Given the description of an element on the screen output the (x, y) to click on. 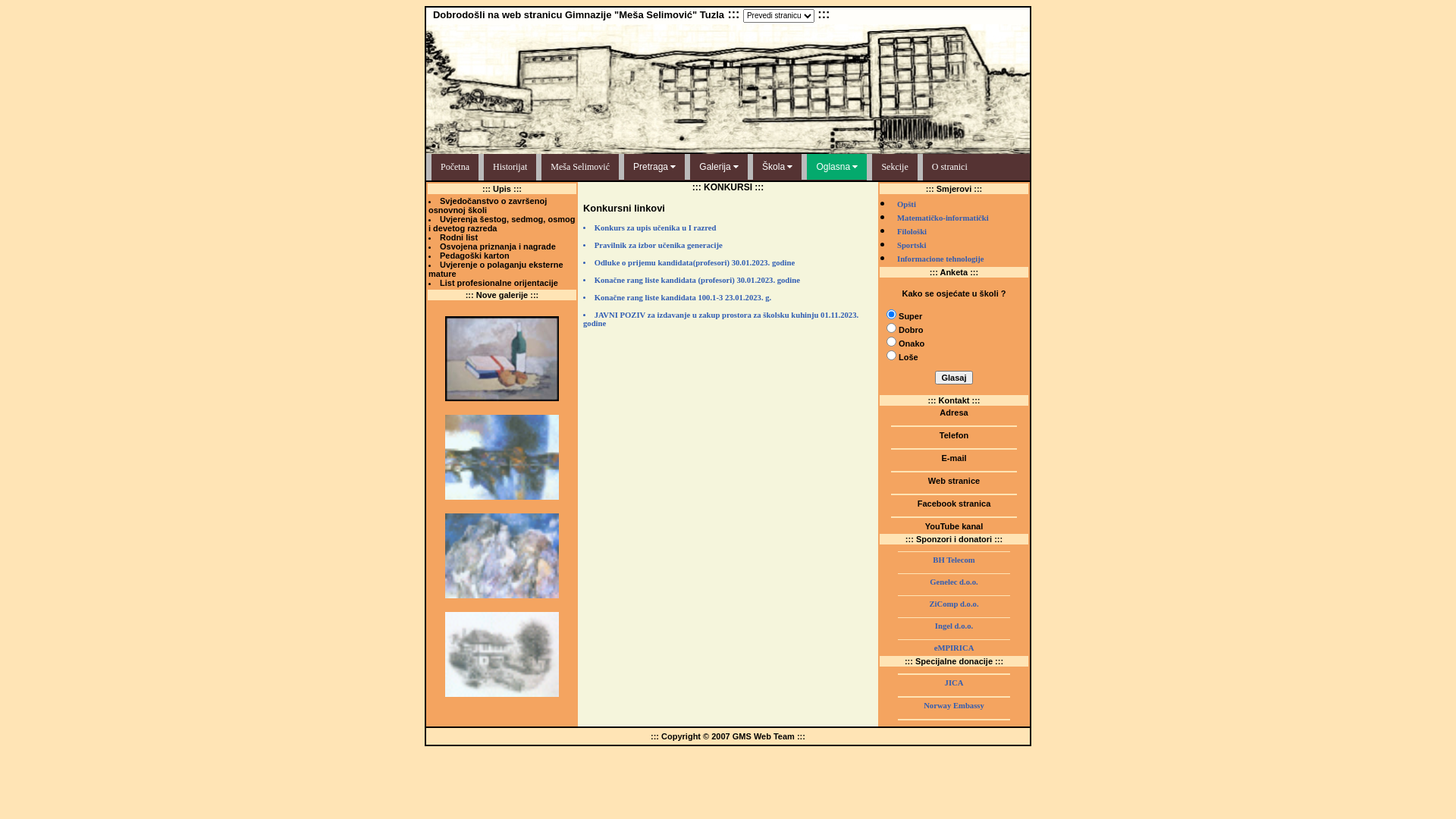
JICA Element type: text (953, 682)
Ingel d.o.o. Element type: text (953, 625)
Galerija Element type: text (718, 166)
gmstz@montk.gov.ba Element type: text (953, 466)
Historijat Element type: text (507, 166)
BH Telecom Element type: text (953, 559)
Glasaj Element type: text (953, 377)
Informacione tehnologije Element type: text (940, 258)
Sportski Element type: text (911, 245)
Pretraga Element type: text (654, 166)
Sekcije Element type: text (891, 166)
www.gmstz.com.ba Element type: text (953, 489)
GMS Tuzla Element type: text (953, 534)
Oglasna Element type: text (836, 166)
Genelec d.o.o. Element type: text (953, 581)
Odluke o prijemu kandidata(profesori) 30.01.2023. godine Element type: text (727, 267)
O stranici Element type: text (946, 166)
Norway Embassy Element type: text (953, 705)
ZiComp d.o.o. Element type: text (953, 603)
eMPIRICA Element type: text (954, 647)
